Given the description of an element on the screen output the (x, y) to click on. 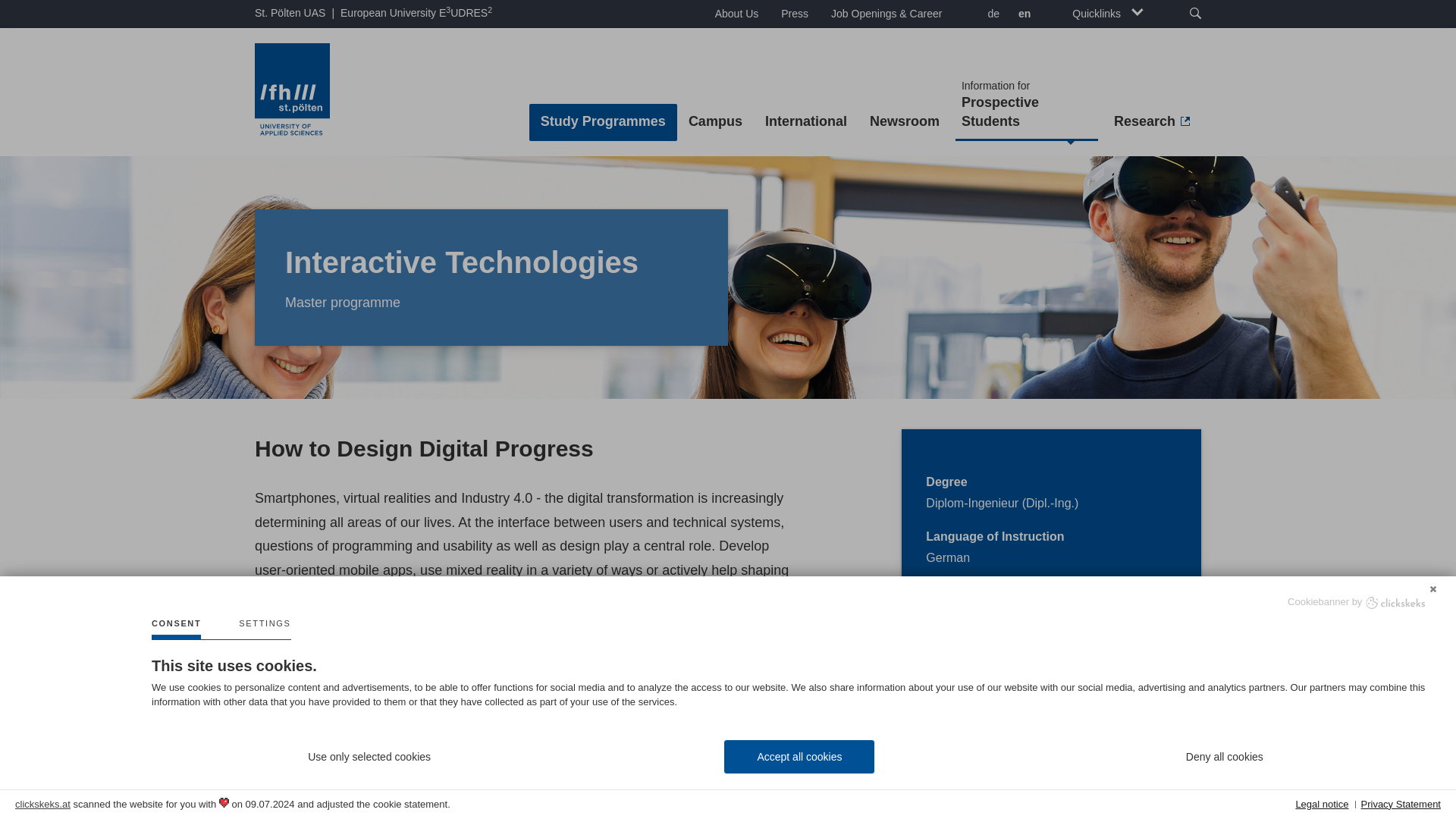
Search (1189, 13)
About Us (736, 14)
Unterrichtssprache (348, 683)
de (991, 14)
Quicklinks (1107, 14)
Clickskeks Logo (1395, 603)
Newsroom (904, 122)
European University E3UDRES2 (416, 12)
Close (1433, 587)
Deutsch (991, 14)
clickskeks.at (41, 803)
